Given the description of an element on the screen output the (x, y) to click on. 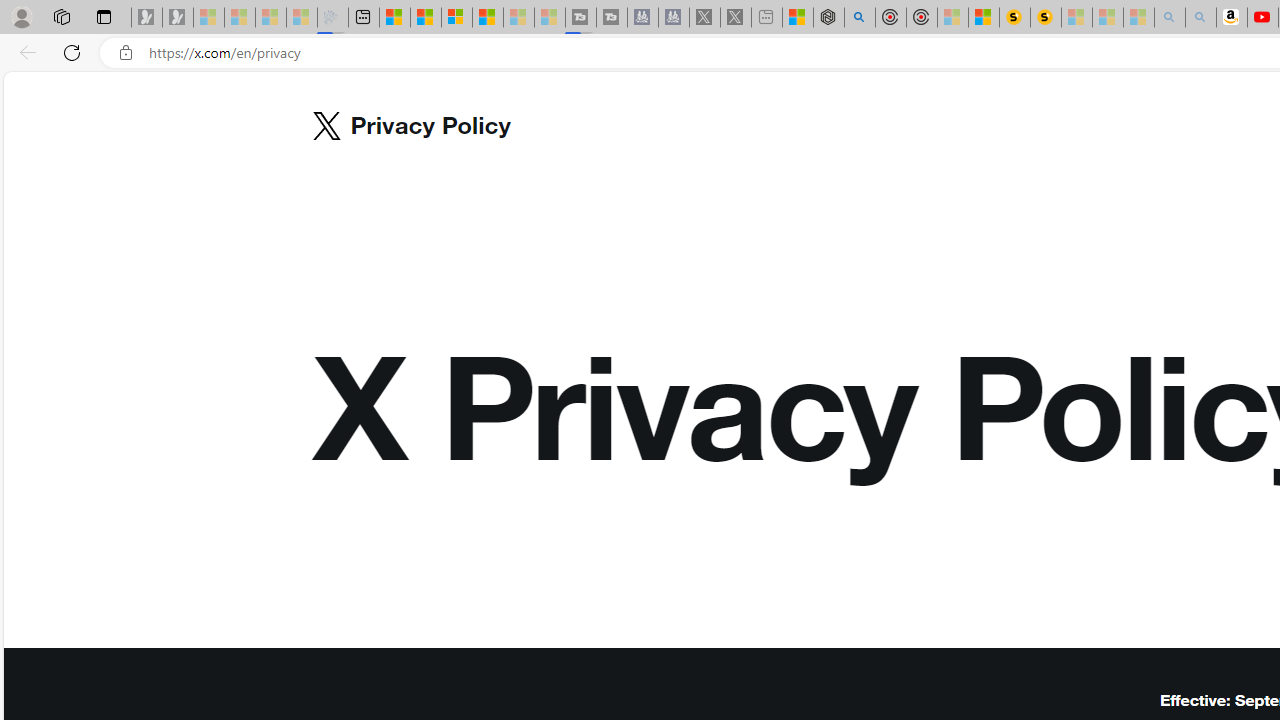
Overview (456, 17)
poe - Search (859, 17)
